Given the description of an element on the screen output the (x, y) to click on. 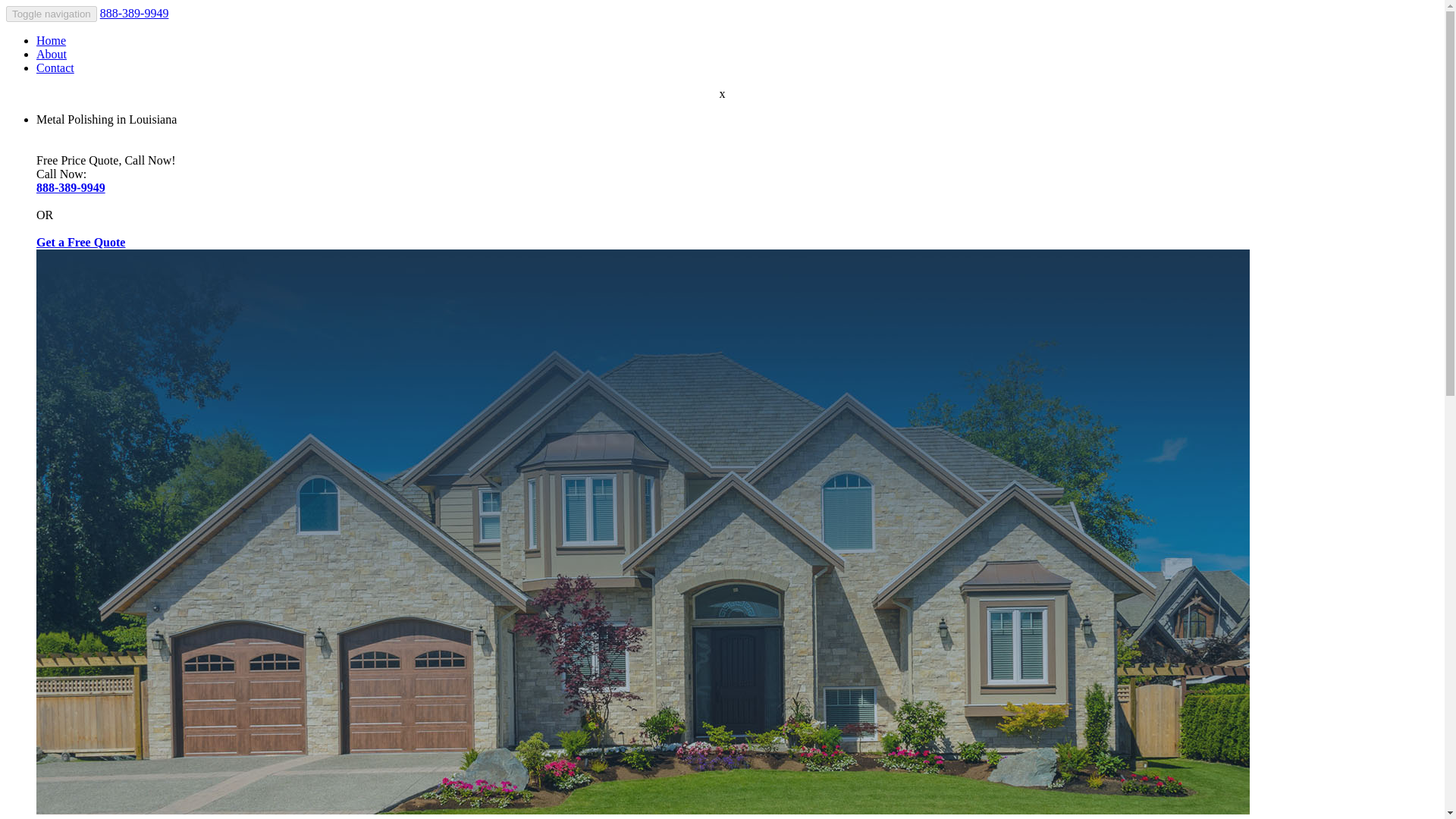
Toggle navigation (51, 13)
About (51, 53)
Home (50, 40)
888-389-9949 (70, 187)
Get a Free Quote (80, 241)
Contact (55, 67)
888-389-9949 (134, 12)
